Given the description of an element on the screen output the (x, y) to click on. 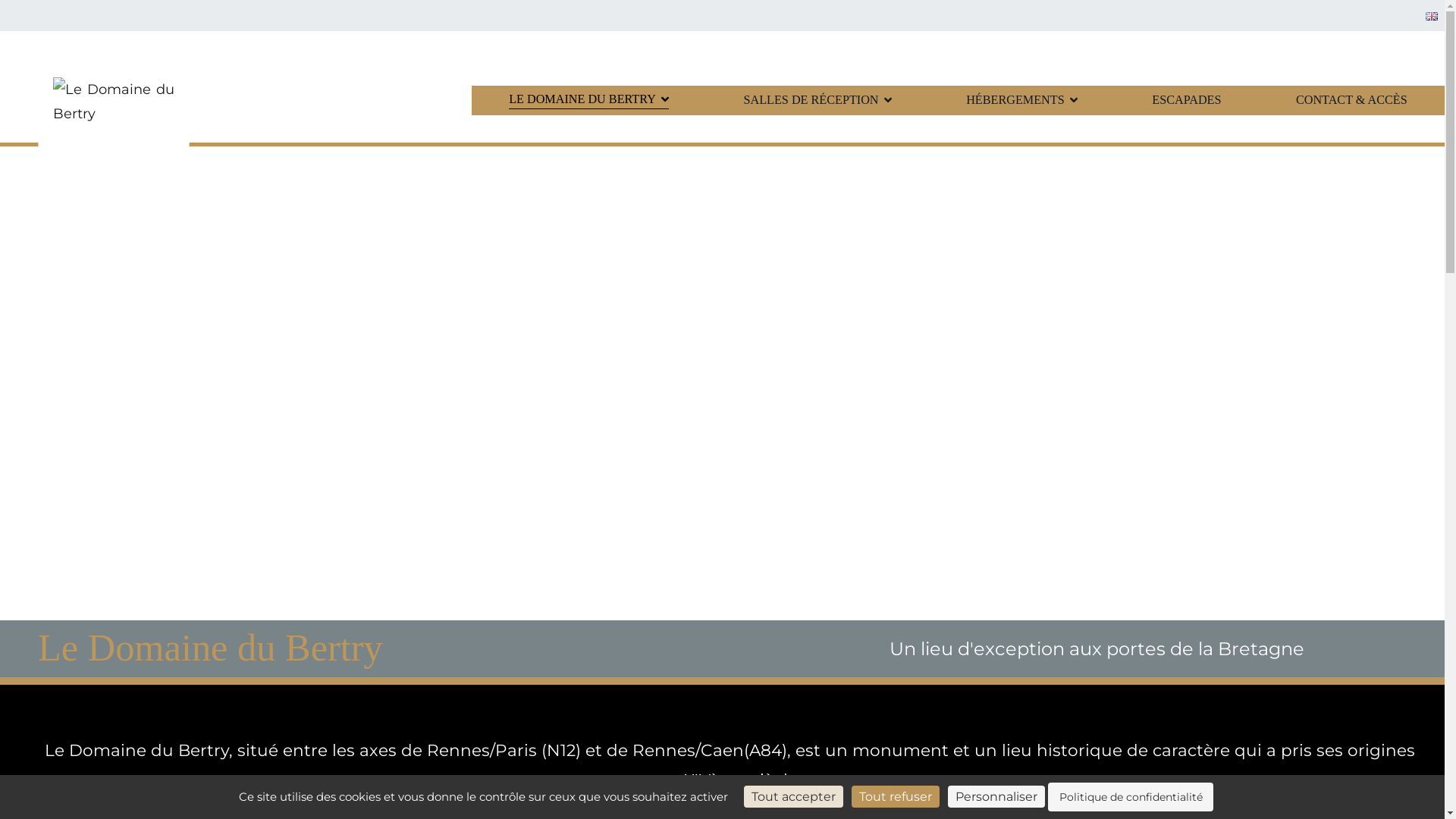
Tout accepter Element type: text (793, 796)
Personnaliser Element type: text (995, 796)
Tout refuser Element type: text (895, 796)
ESCAPADES Element type: text (1185, 100)
LE DOMAINE DU BERTRY Element type: text (588, 99)
